Given the description of an element on the screen output the (x, y) to click on. 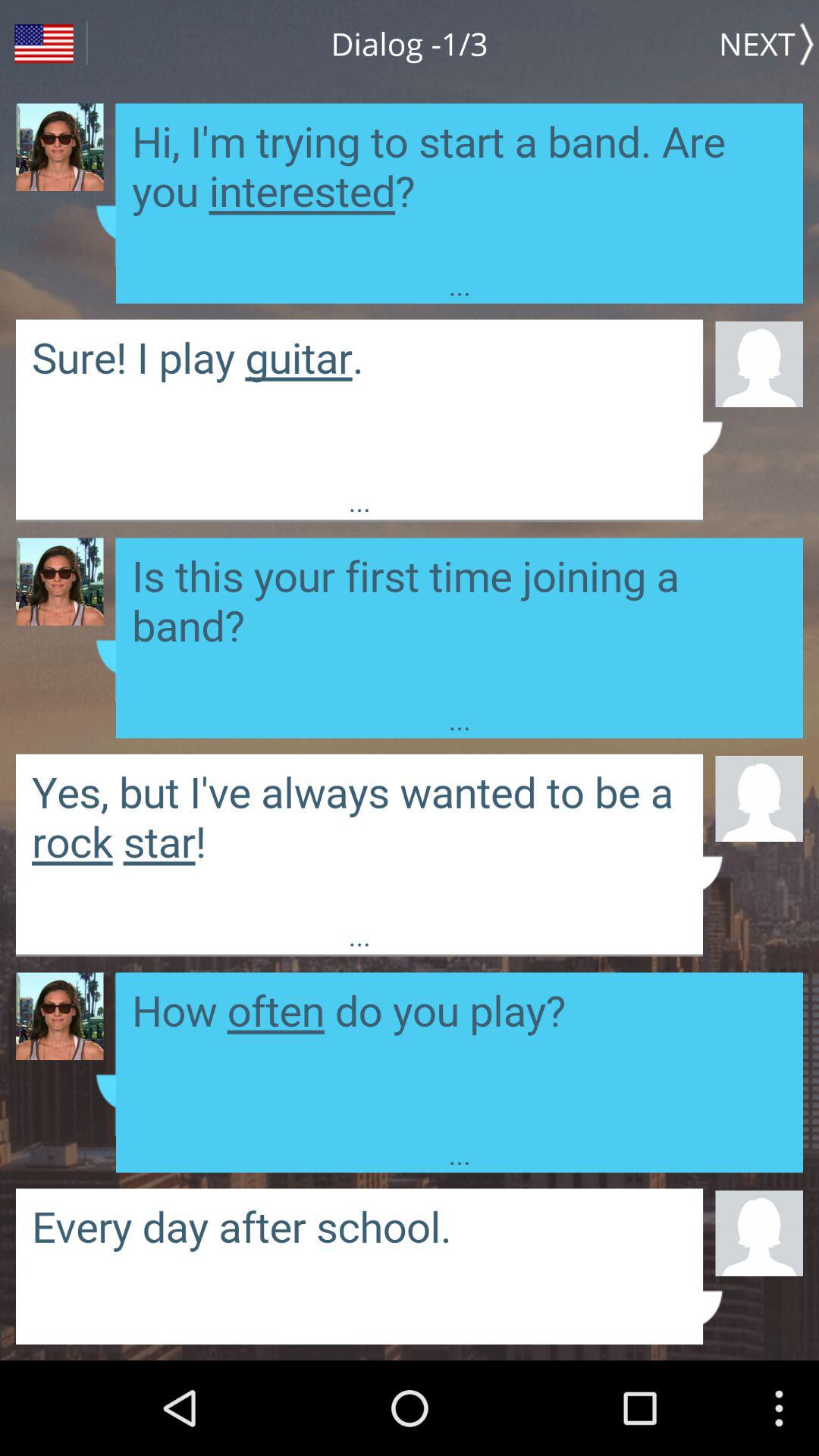
press icon below the ... icon (759, 1232)
